Given the description of an element on the screen output the (x, y) to click on. 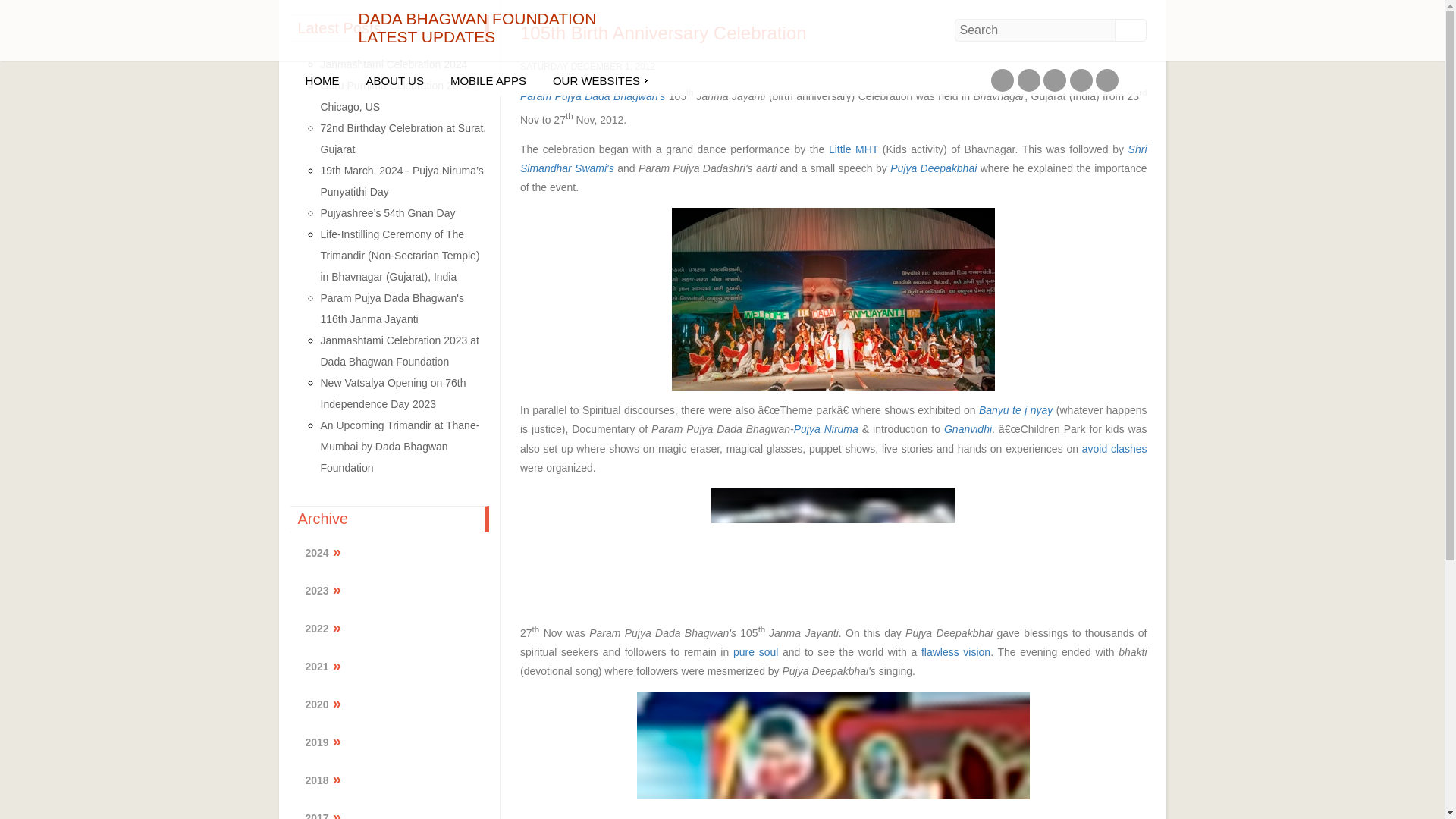
Pujya Deepakbhai (934, 168)
HOME (322, 80)
Little MHT (850, 149)
kids activities (850, 149)
flawless vision, who is at fault (955, 652)
Gnanvidhi (967, 428)
justice, is god just (1015, 410)
Param Pujya Dada Bhagwan's 116th Janma Jayanti (391, 308)
OUR WEBSITES (595, 80)
who am I?, know your true self (755, 652)
